Given the description of an element on the screen output the (x, y) to click on. 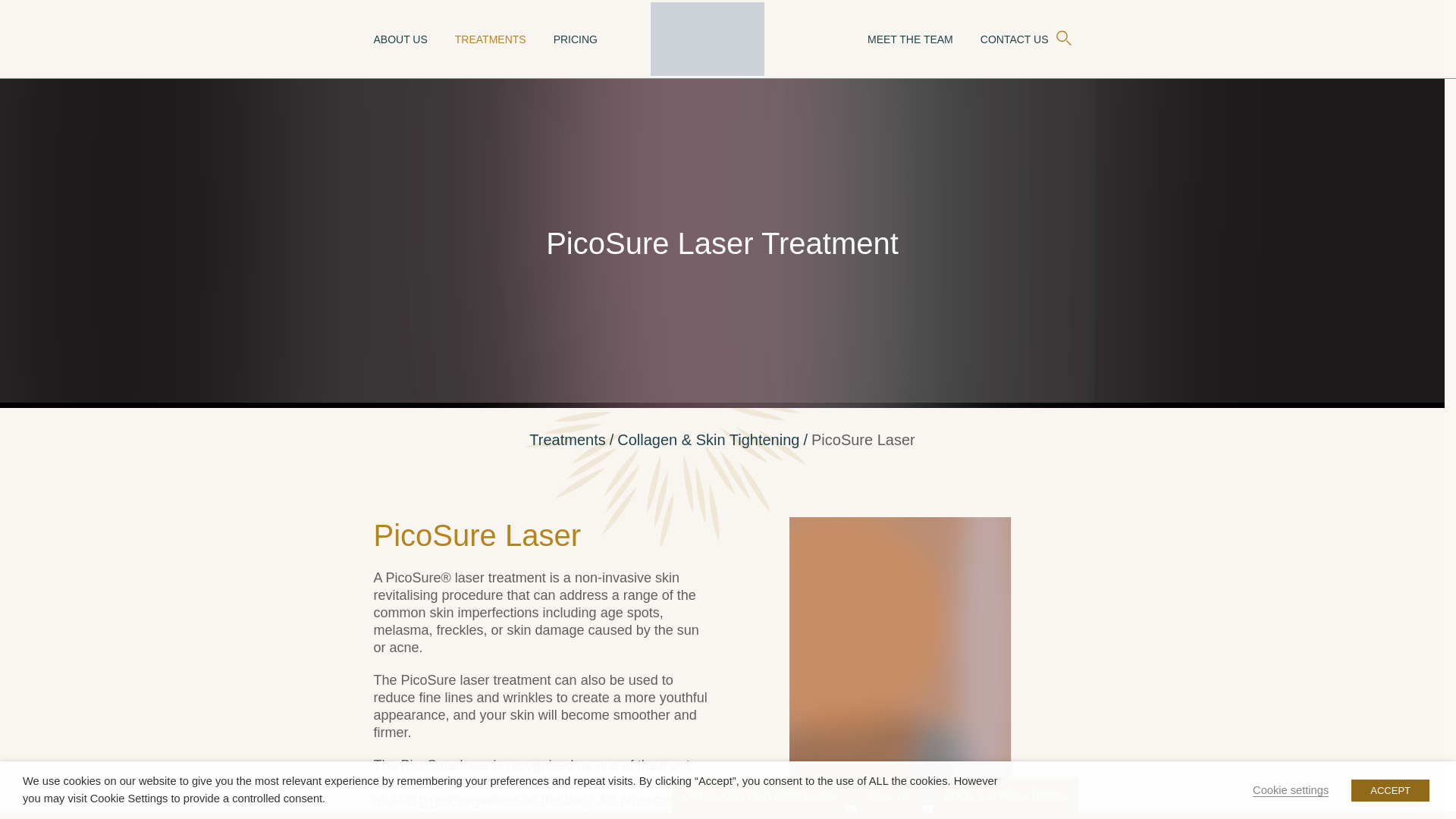
TREATMENTS (489, 38)
ABOUT US (399, 38)
PRICING (574, 38)
MEET THE TEAM (910, 38)
CONTACT US (1013, 38)
Treatments (567, 439)
